Given the description of an element on the screen output the (x, y) to click on. 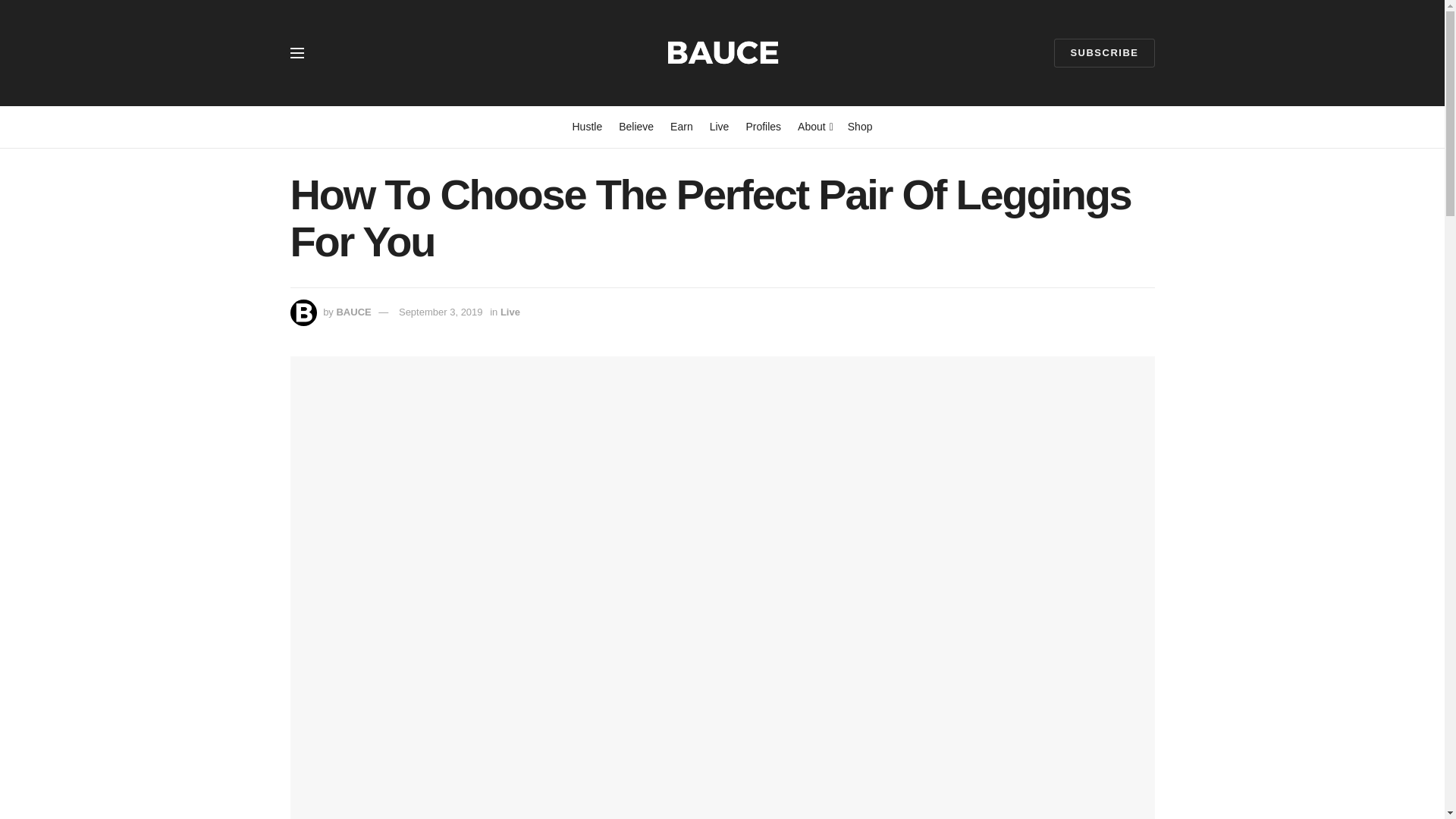
Believe (635, 126)
SUBSCRIBE (1104, 52)
Hustle (587, 126)
Live (719, 126)
Live (509, 311)
About (814, 126)
Profiles (762, 126)
Earn (681, 126)
Shop (859, 126)
September 3, 2019 (440, 311)
